Given the description of an element on the screen output the (x, y) to click on. 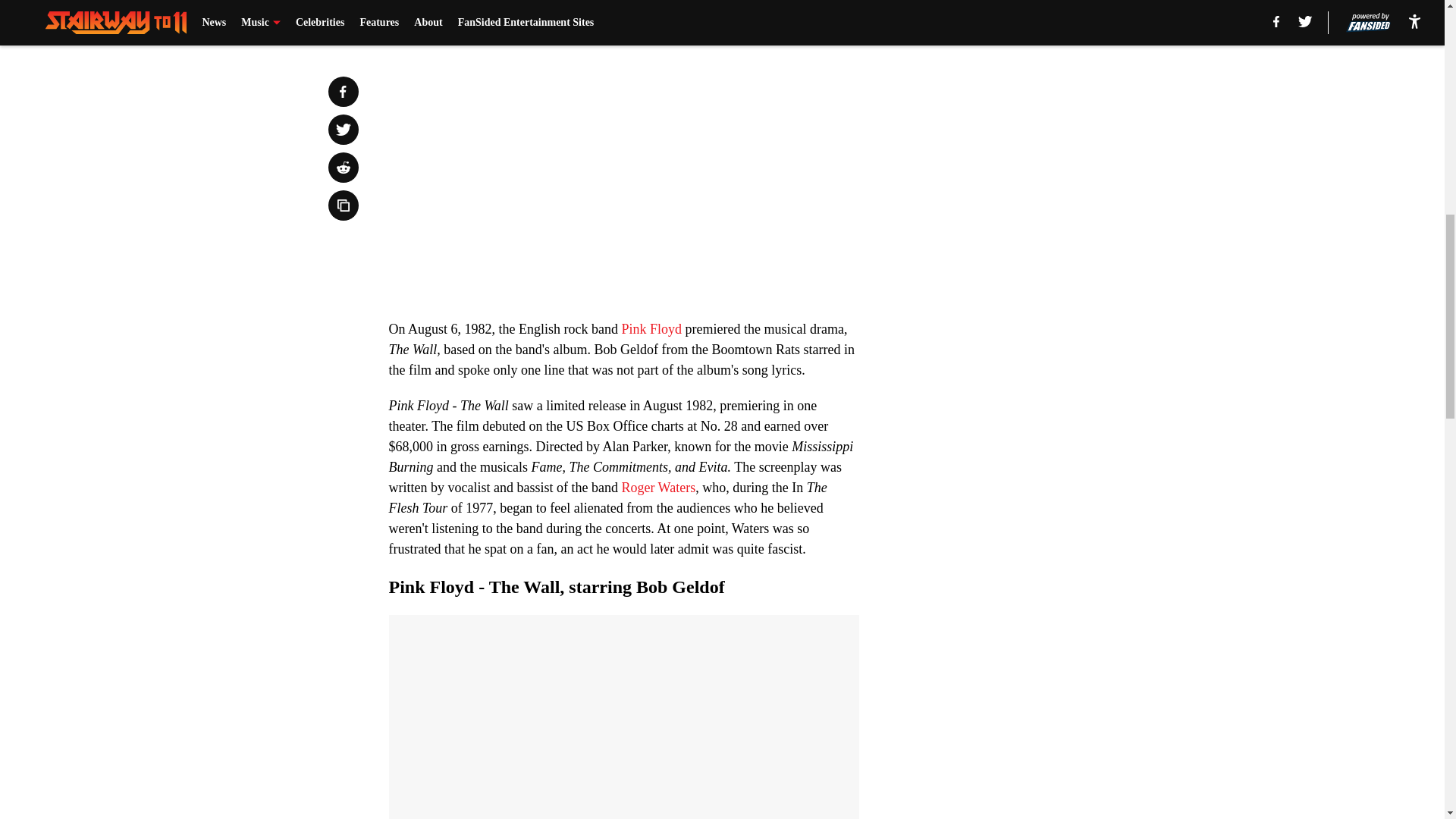
Pink Floyd (651, 328)
Roger Waters (656, 487)
